Given the description of an element on the screen output the (x, y) to click on. 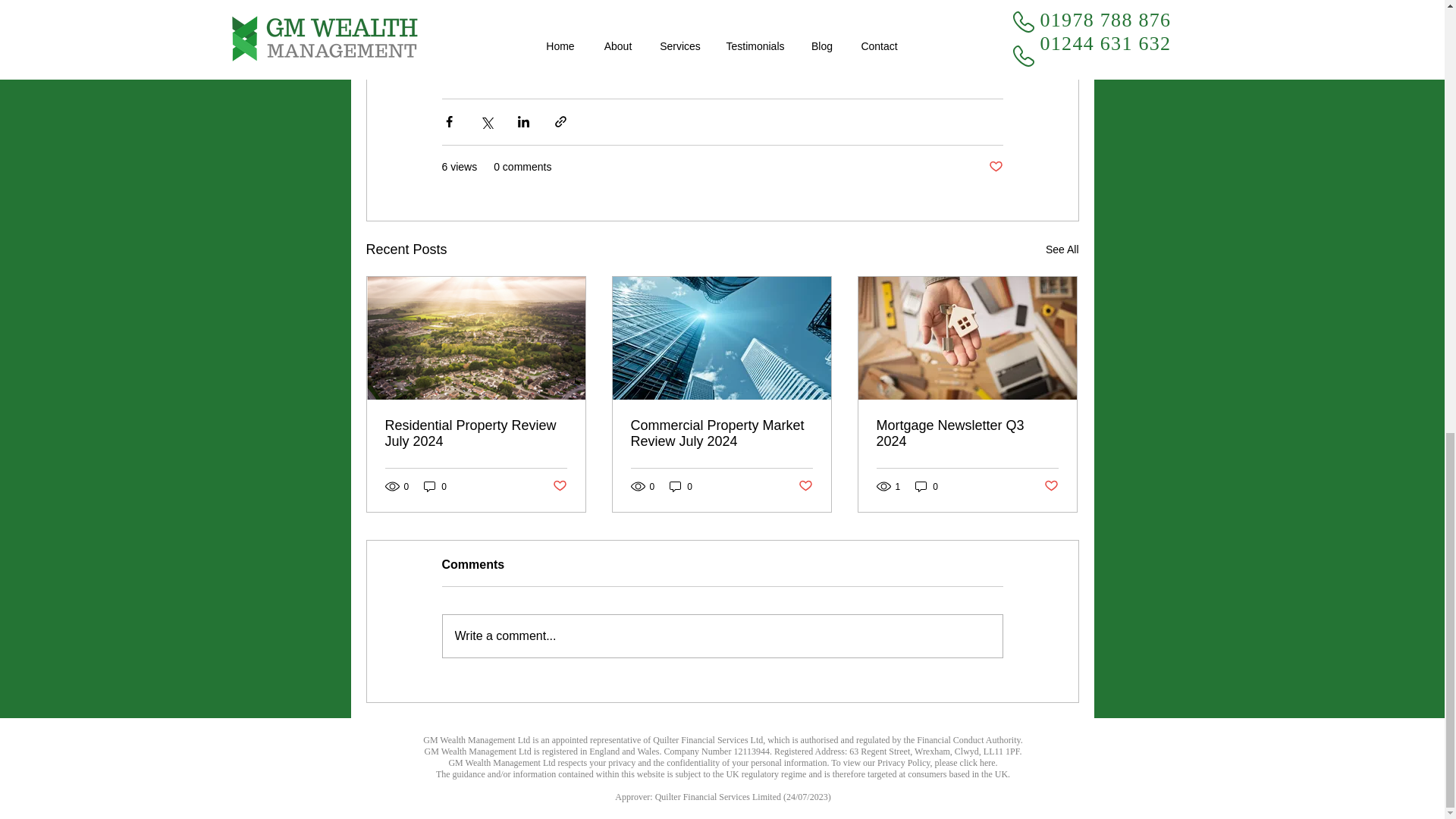
See All (1061, 250)
Commercial Property Market Review July 2024 (721, 433)
0 (435, 486)
0 (681, 486)
Post not marked as liked (1050, 486)
Residential Property Review July 2024 (476, 433)
Post not marked as liked (995, 166)
0 (926, 486)
Post not marked as liked (804, 486)
Post not marked as liked (558, 486)
Mortgage Newsletter Q3 2024 (967, 433)
Write a comment... (722, 636)
